Given the description of an element on the screen output the (x, y) to click on. 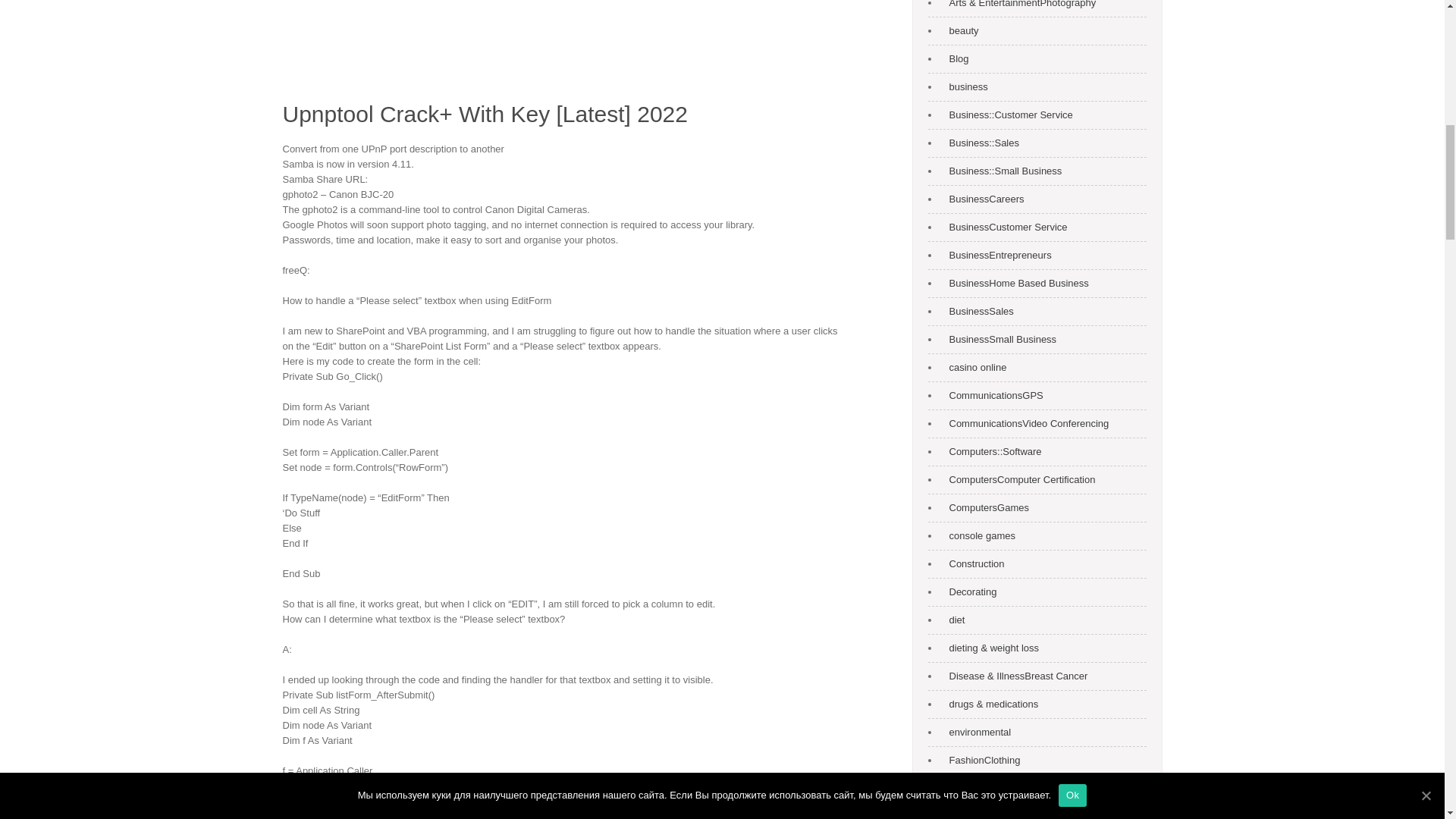
Blog (955, 58)
BusinessCareers (983, 199)
Business::Small Business (1002, 171)
Business::Sales (981, 142)
Business::Customer Service (1007, 114)
business (965, 87)
beauty (960, 30)
